Given the description of an element on the screen output the (x, y) to click on. 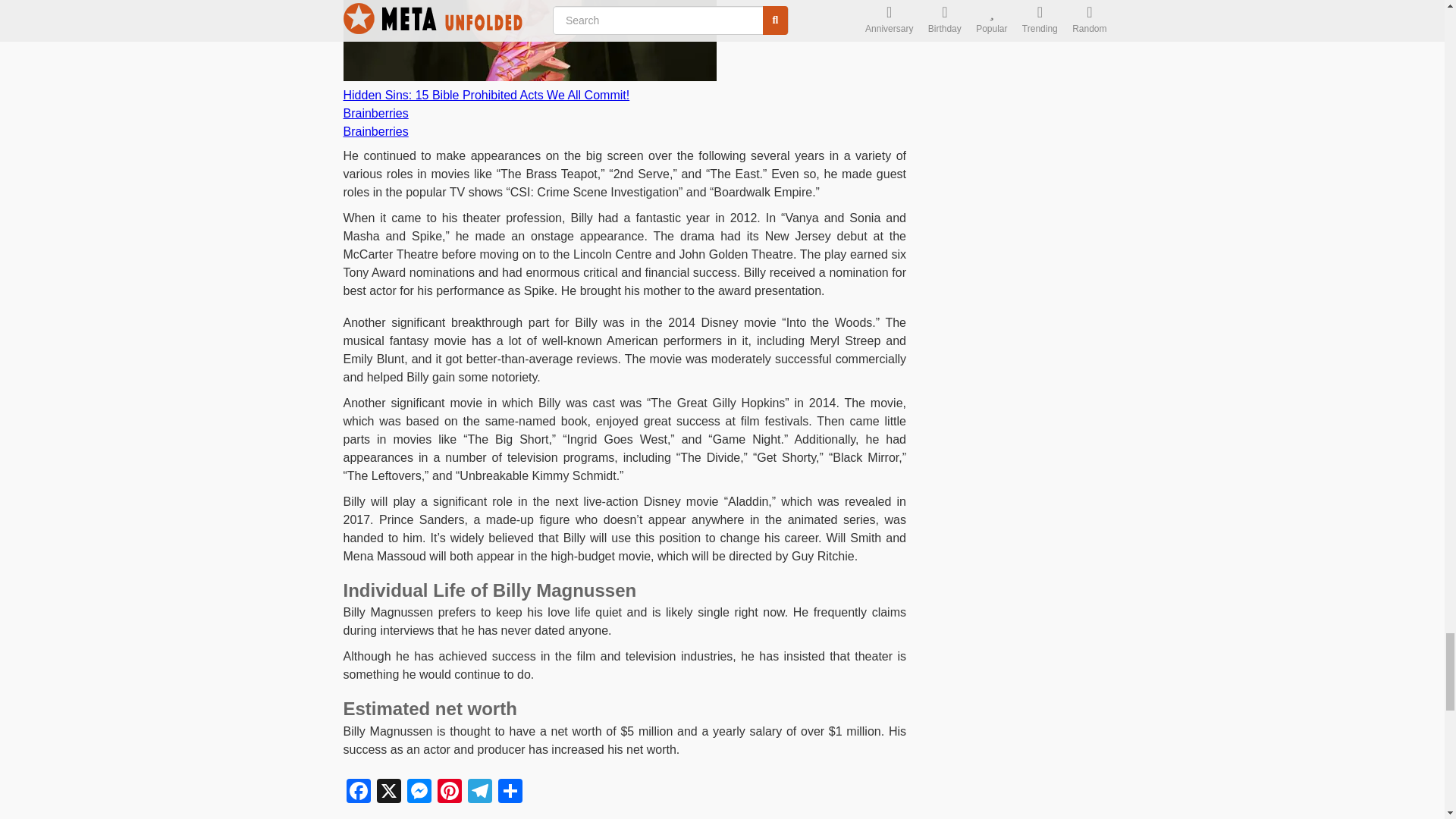
X (387, 792)
Telegram (479, 792)
Messenger (418, 792)
Pinterest (448, 792)
Facebook (357, 792)
